Given the description of an element on the screen output the (x, y) to click on. 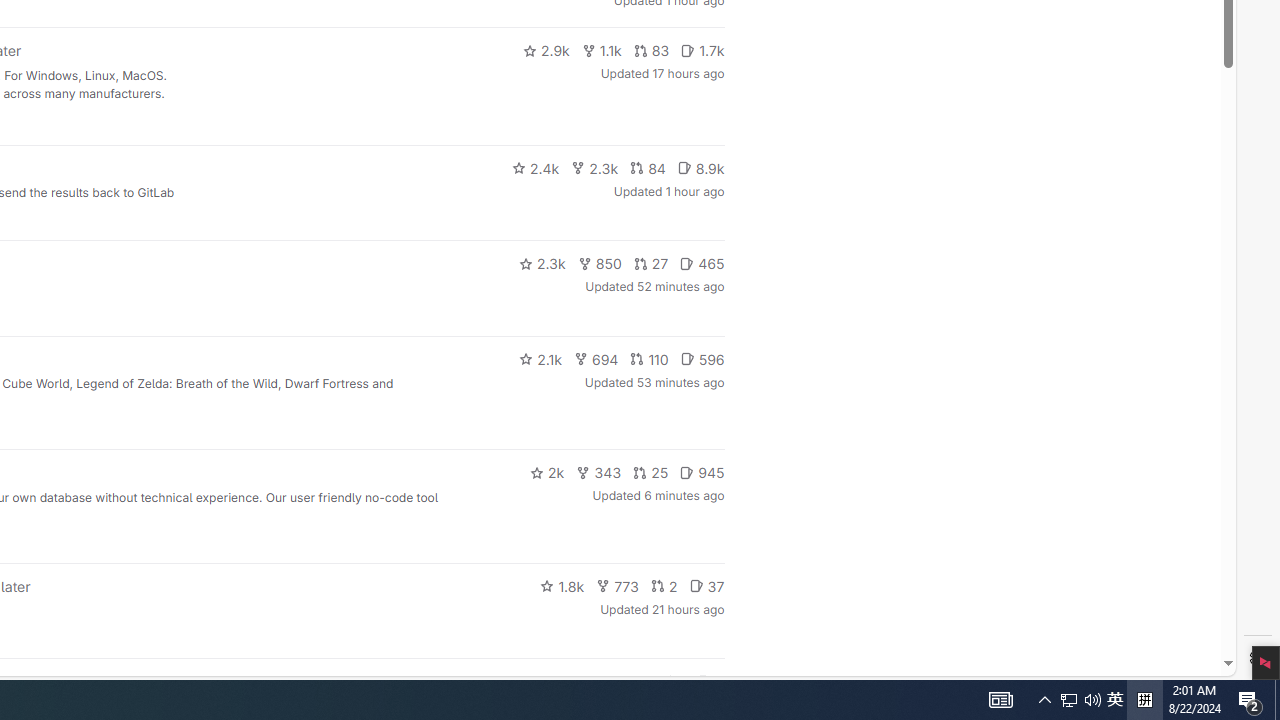
37 (706, 585)
1.8k (562, 585)
465 (701, 263)
1 (673, 681)
945 (701, 472)
84 (647, 167)
1.4k (573, 681)
110 (649, 358)
2.4k (535, 167)
694 (596, 358)
83 (651, 50)
2 (664, 585)
25 (651, 472)
2k (546, 472)
2.9k (545, 50)
